Given the description of an element on the screen output the (x, y) to click on. 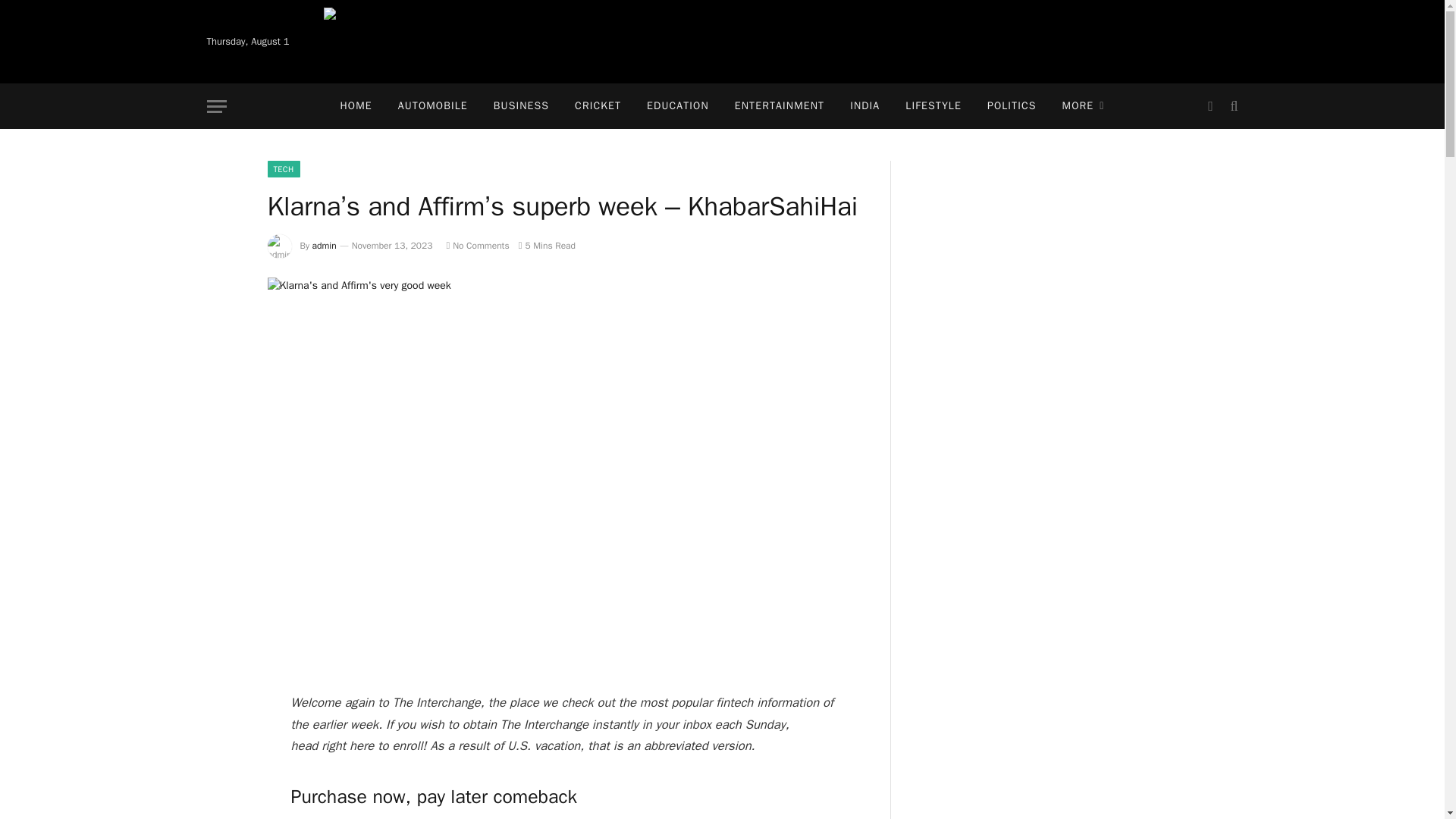
HOME (356, 105)
TECH (282, 168)
MORE (1083, 105)
EDUCATION (677, 105)
No Comments (476, 245)
admin (324, 245)
INDIA (864, 105)
ENTERTAINMENT (779, 105)
Switch to Dark Design - easier on eyes. (1209, 106)
LIFESTYLE (933, 105)
BUSINESS (521, 105)
CRICKET (597, 105)
AUTOMOBILE (432, 105)
POLITICS (1011, 105)
Posts by admin (324, 245)
